Given the description of an element on the screen output the (x, y) to click on. 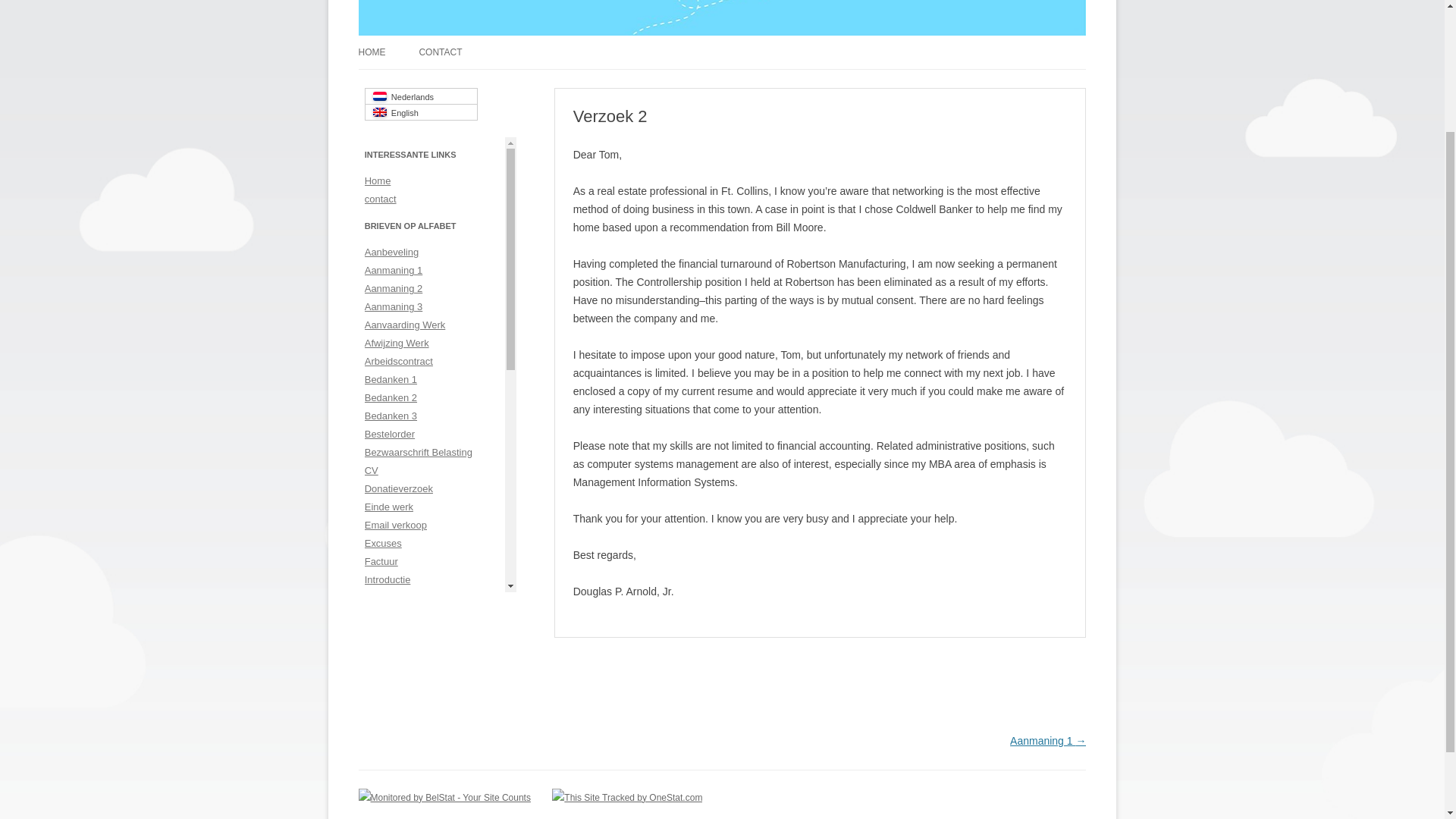
Ontslagbrief 3 (395, 706)
Bedanken 1 (390, 378)
Aanbeveling (392, 251)
Excuses (383, 542)
  Nederlands (421, 96)
CV (371, 470)
Einde werk (389, 506)
Love Letter 2 (393, 633)
Home (378, 180)
Introductie (387, 579)
Love Letter 3 (393, 652)
Bedanken 3 (390, 415)
Factuur (381, 561)
Love Letter 1 (393, 615)
contact (380, 198)
